Given the description of an element on the screen output the (x, y) to click on. 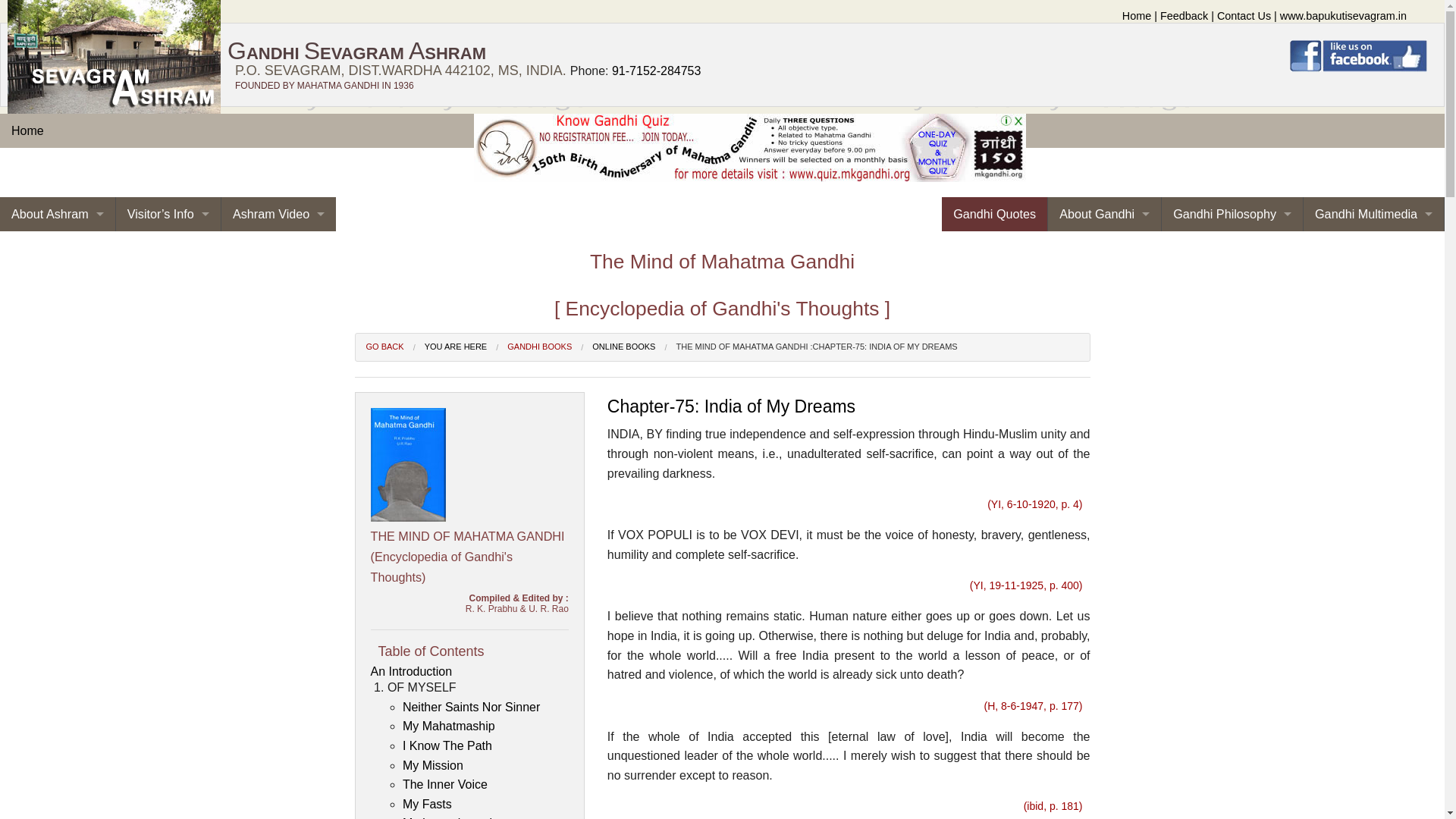
Feedback (1184, 15)
91-7152-284753 (655, 70)
Contact Us (1244, 15)
Gandhi Multimedia (1373, 213)
Gandhi Quotes (994, 213)
About Ashram (57, 213)
Home (1136, 15)
Video of Gandhi Ashram Sevagram (278, 213)
About Gandhi (1104, 213)
Gandhi Philosophy (1232, 213)
